Given the description of an element on the screen output the (x, y) to click on. 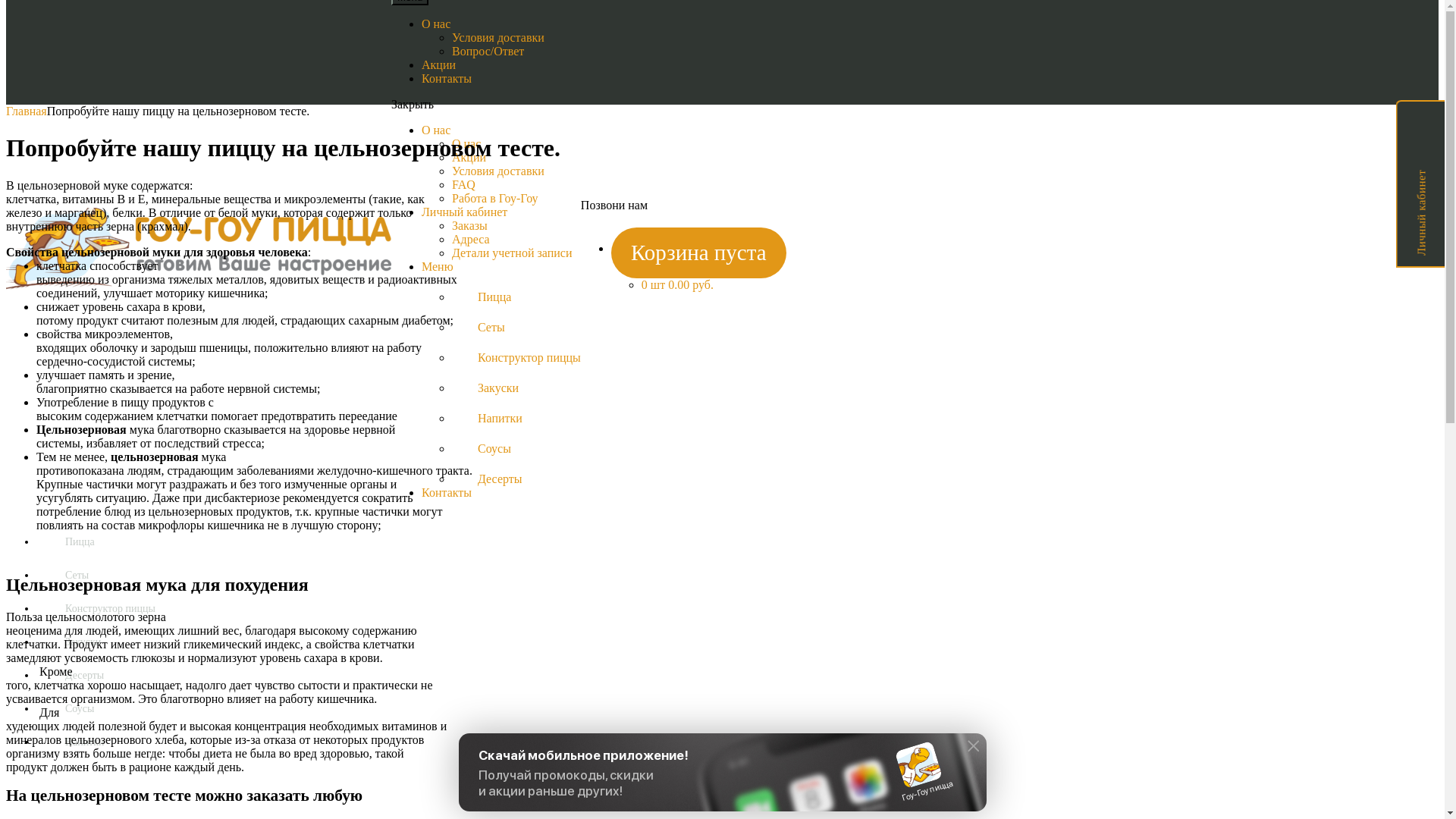
FAQ Element type: text (463, 184)
